Given the description of an element on the screen output the (x, y) to click on. 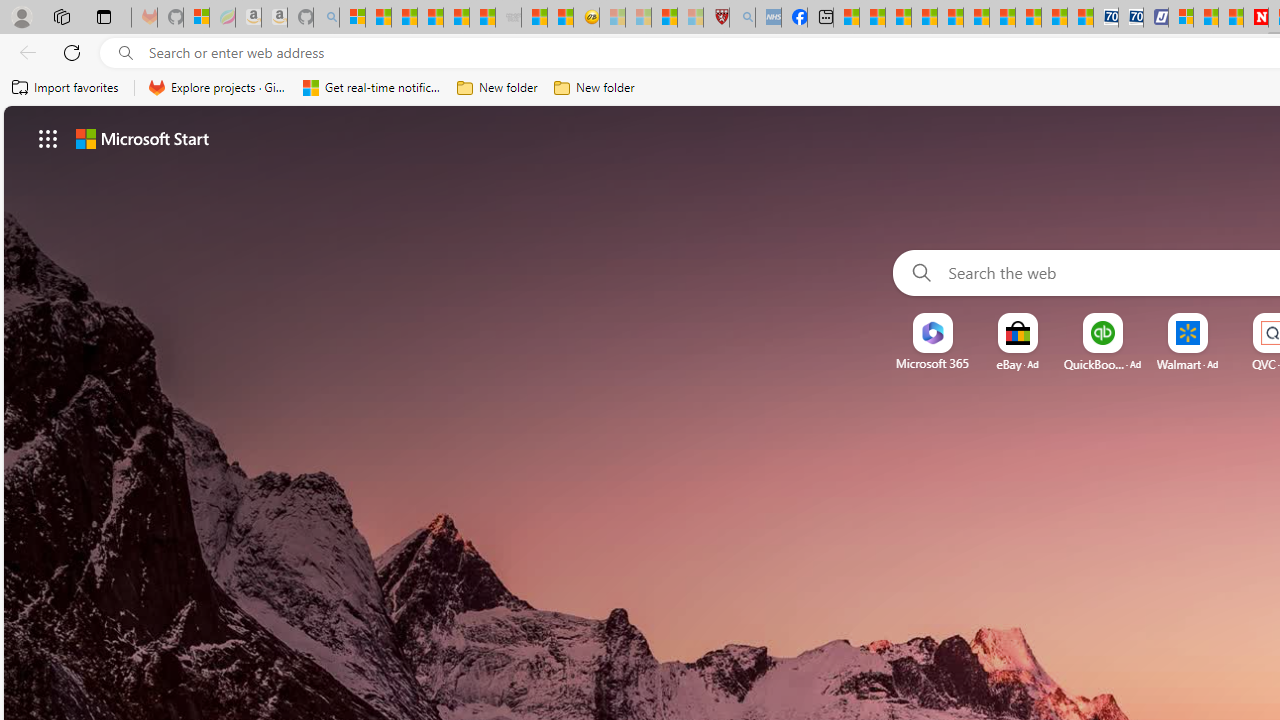
Combat Siege - Sleeping (507, 17)
Cheap Hotels - Save70.com (1130, 17)
App launcher (47, 138)
